Given the description of an element on the screen output the (x, y) to click on. 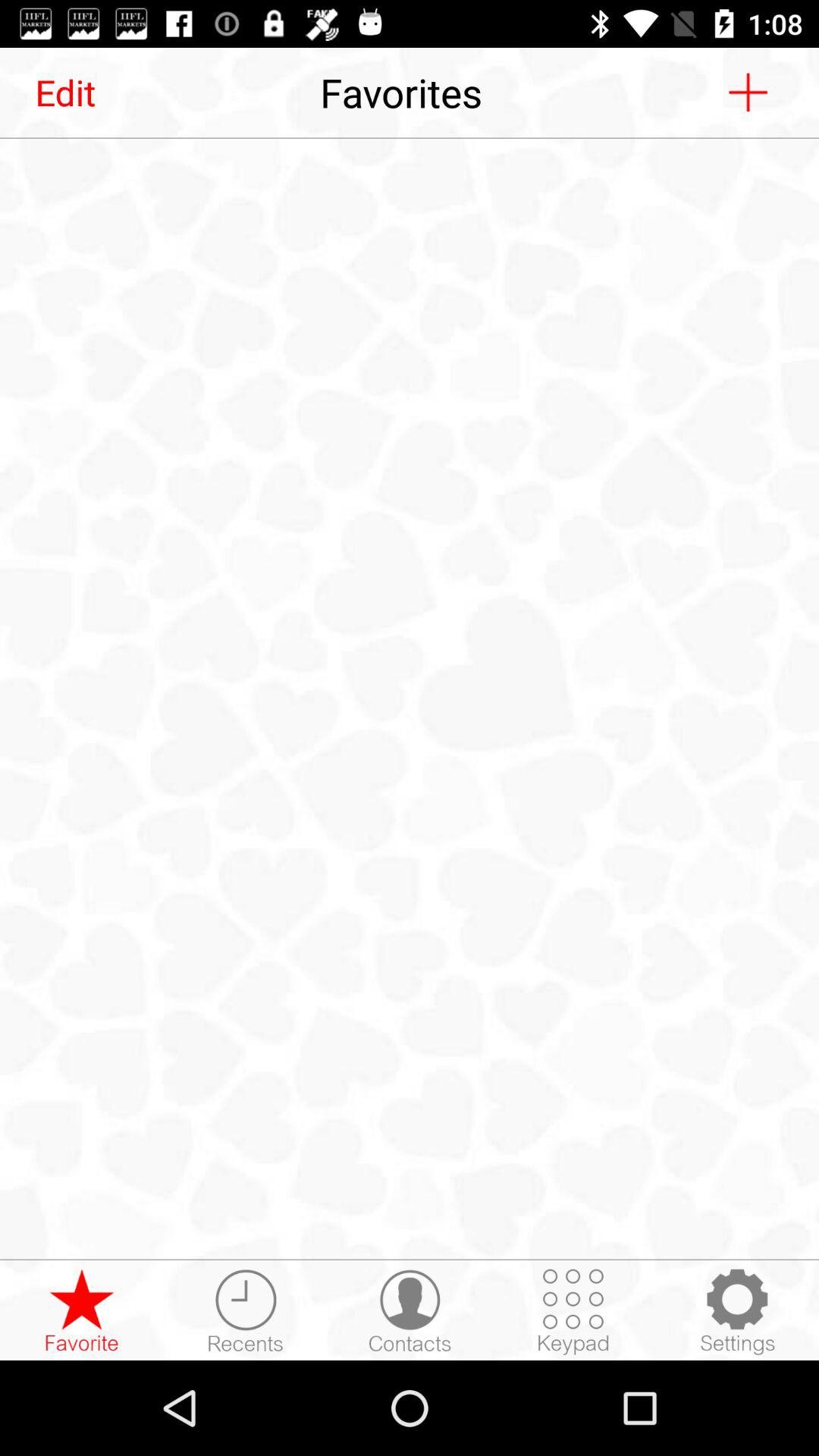
view recent items (245, 1311)
